Given the description of an element on the screen output the (x, y) to click on. 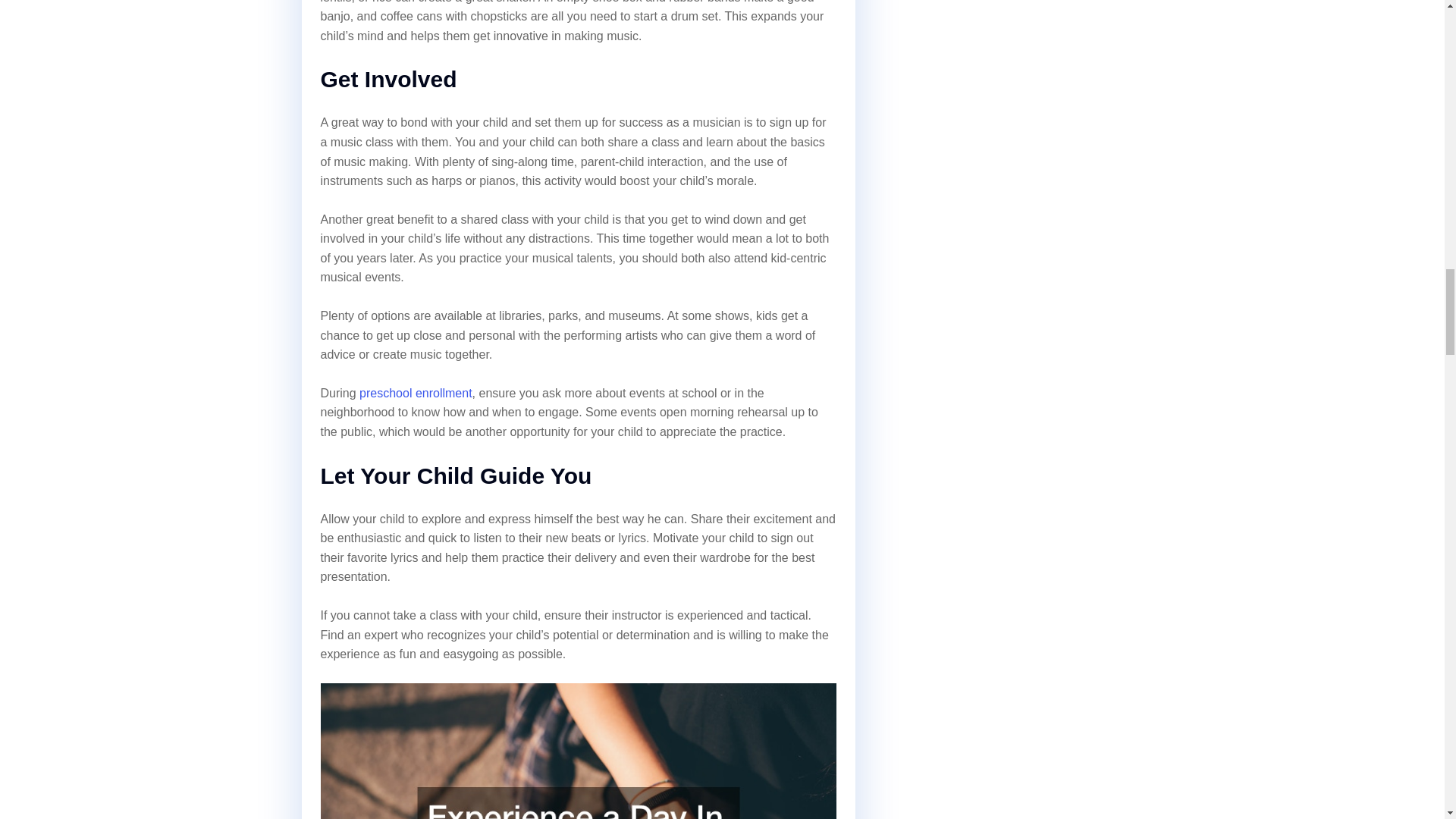
preschool enrollment (415, 392)
